Given the description of an element on the screen output the (x, y) to click on. 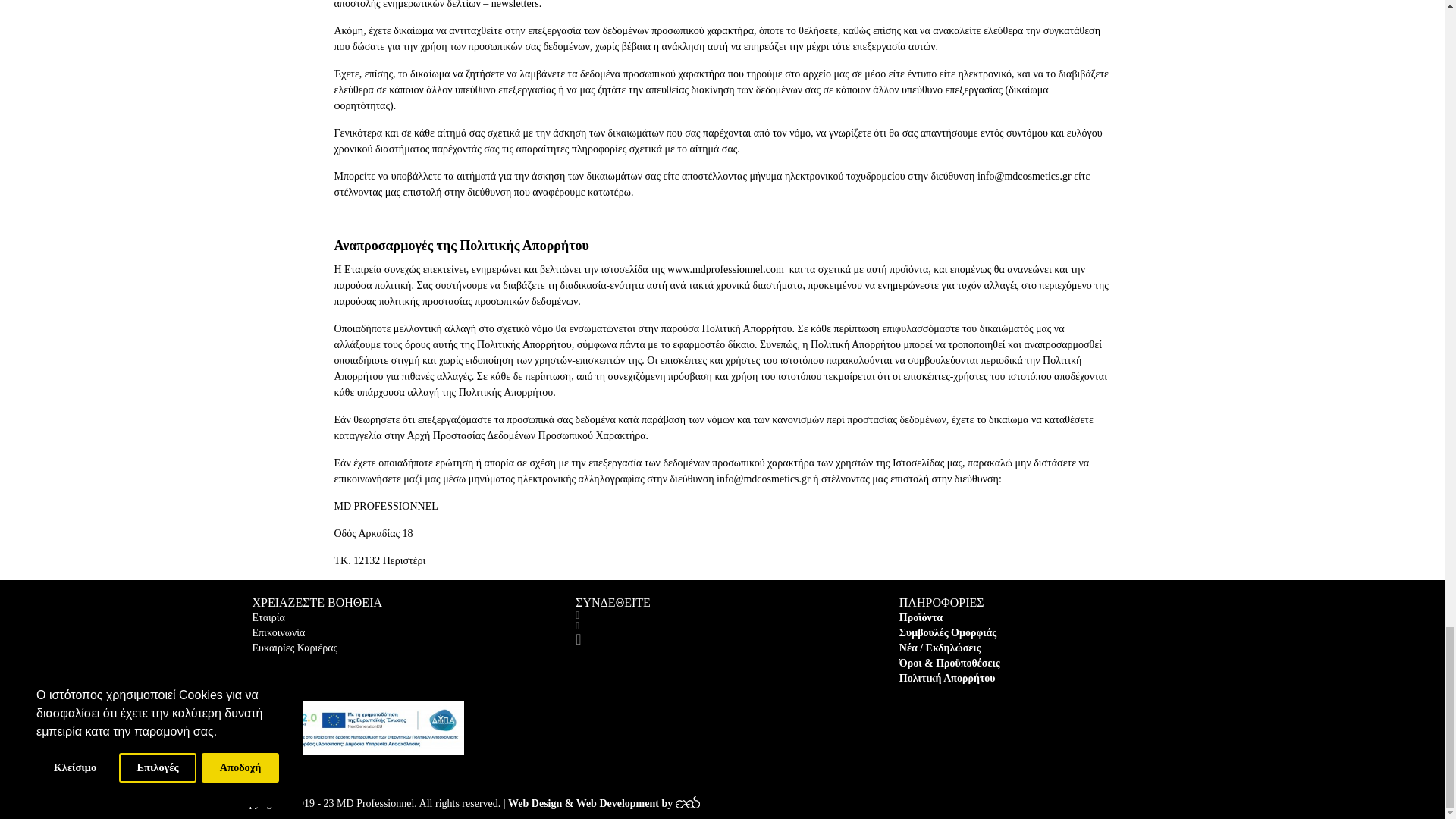
Web Development (610, 803)
